Given the description of an element on the screen output the (x, y) to click on. 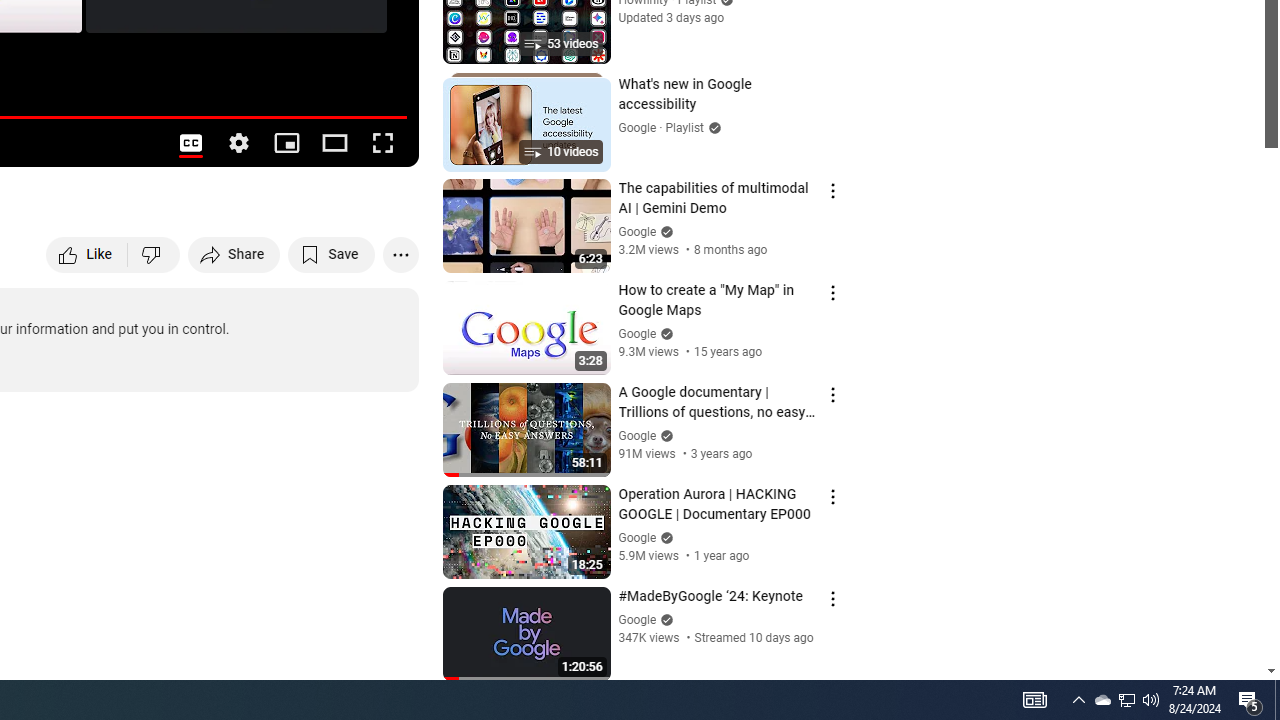
Dislike this video (154, 254)
